Given the description of an element on the screen output the (x, y) to click on. 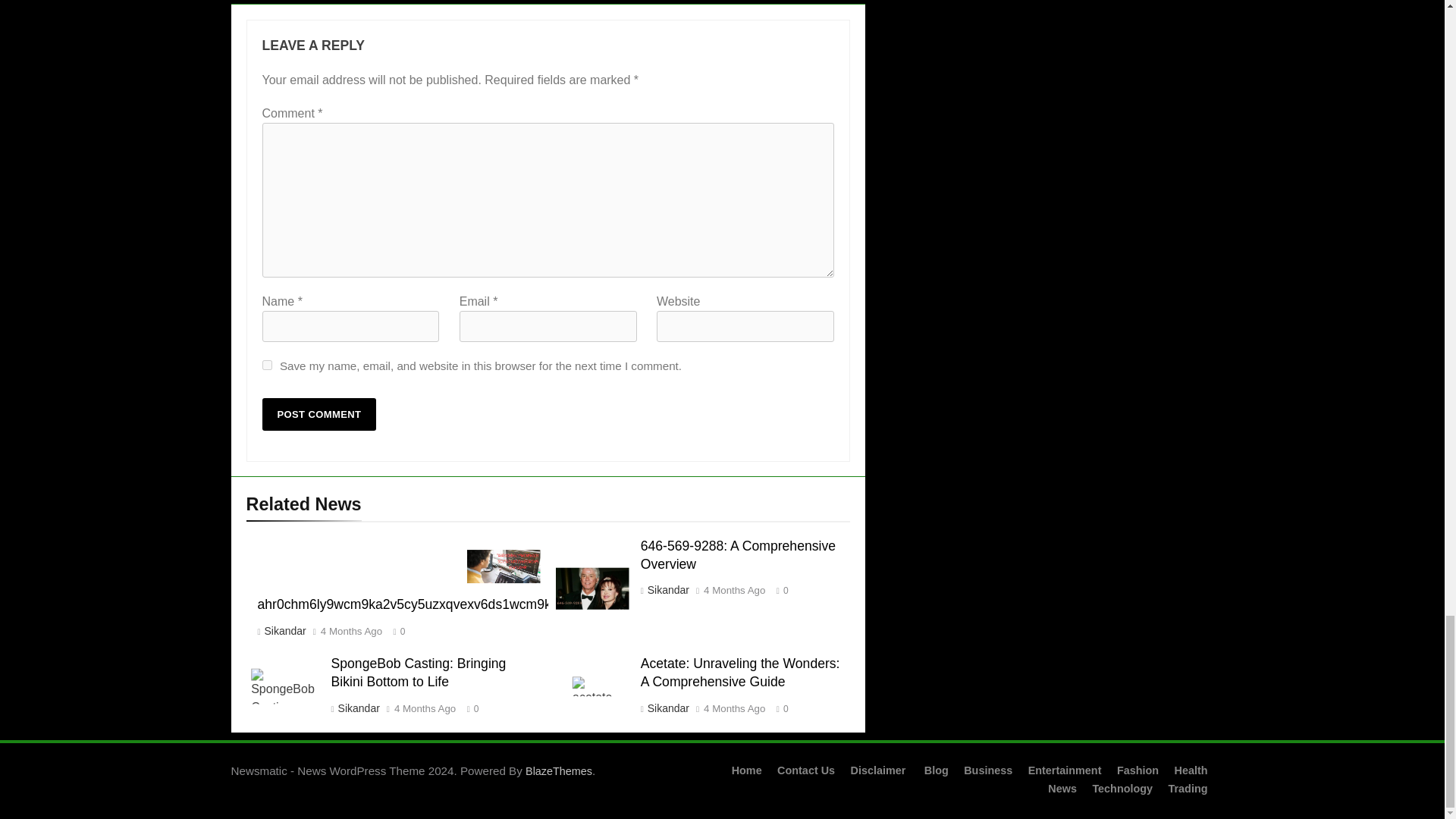
yes (267, 365)
Post Comment (319, 414)
